Given the description of an element on the screen output the (x, y) to click on. 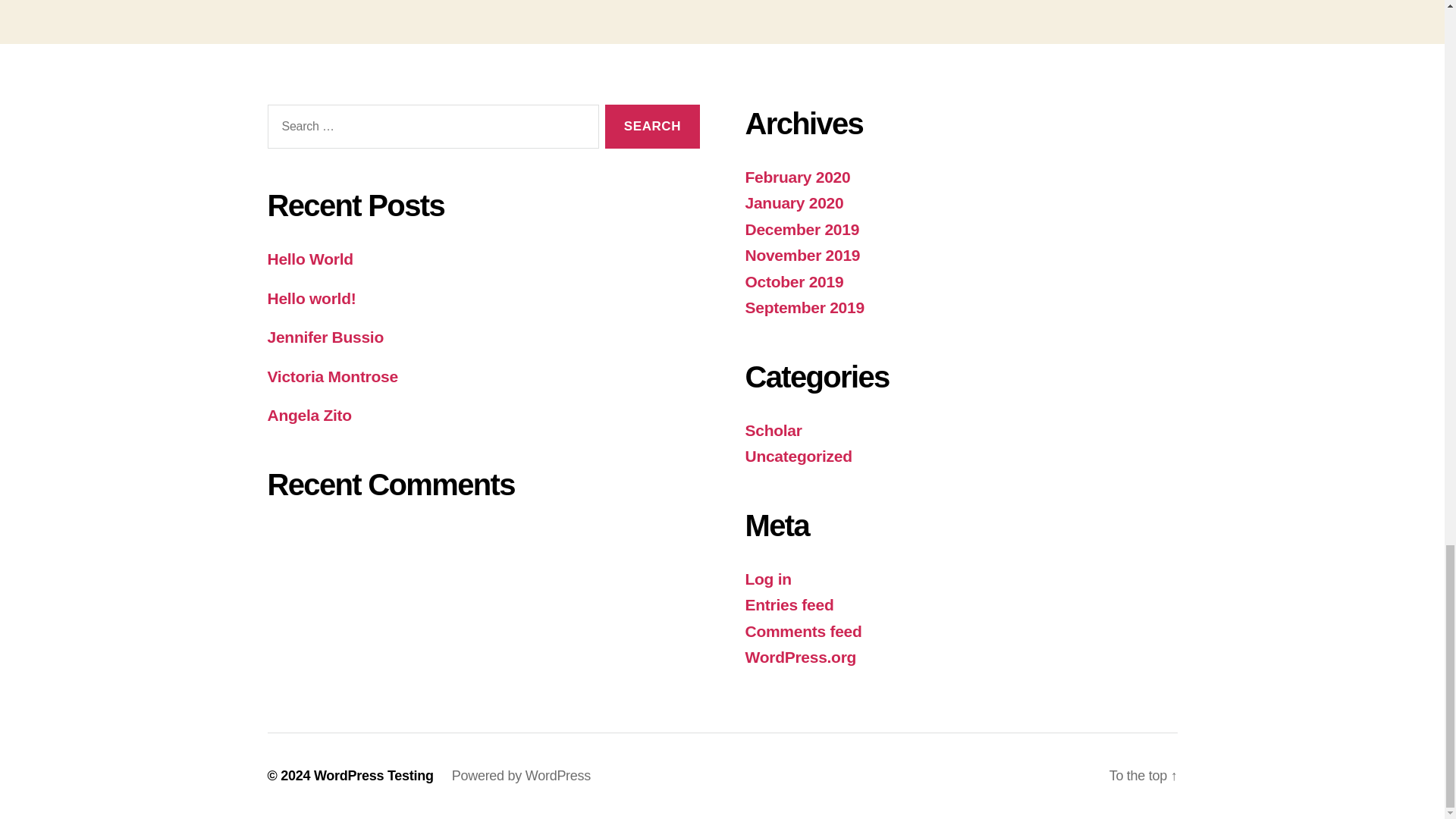
Search (651, 126)
Search (651, 126)
